Given the description of an element on the screen output the (x, y) to click on. 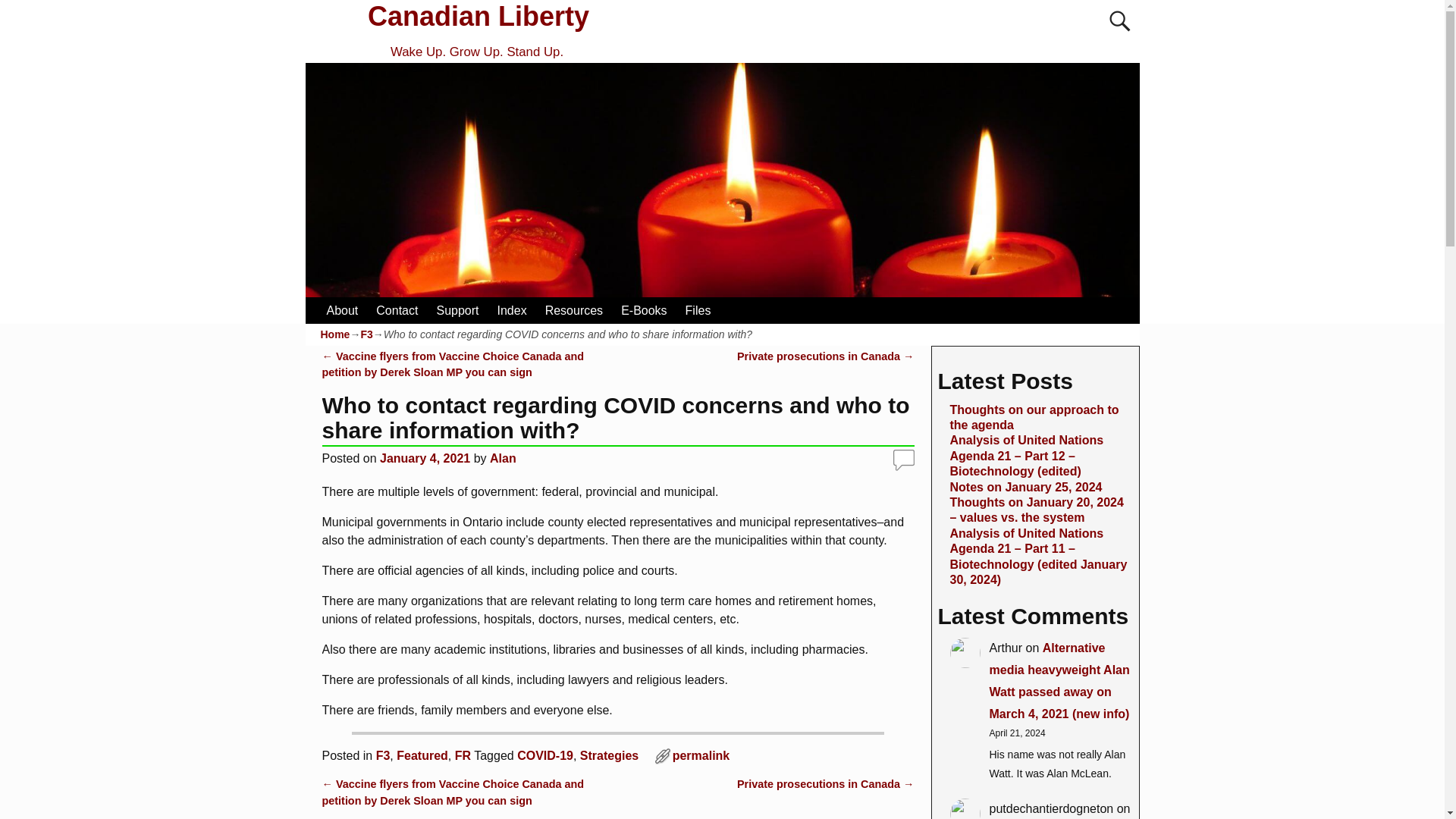
Home (334, 334)
Notes on January 25, 2024 (1025, 486)
Thoughts on our approach to the agenda (1033, 417)
Strategies (609, 755)
E-Books (643, 310)
Featured (422, 755)
View all posts by Alan (502, 458)
Contact (396, 310)
F3 (365, 334)
11:04 pm (425, 458)
Alan (502, 458)
F3 (382, 755)
FR (462, 755)
Support (456, 310)
